Given the description of an element on the screen output the (x, y) to click on. 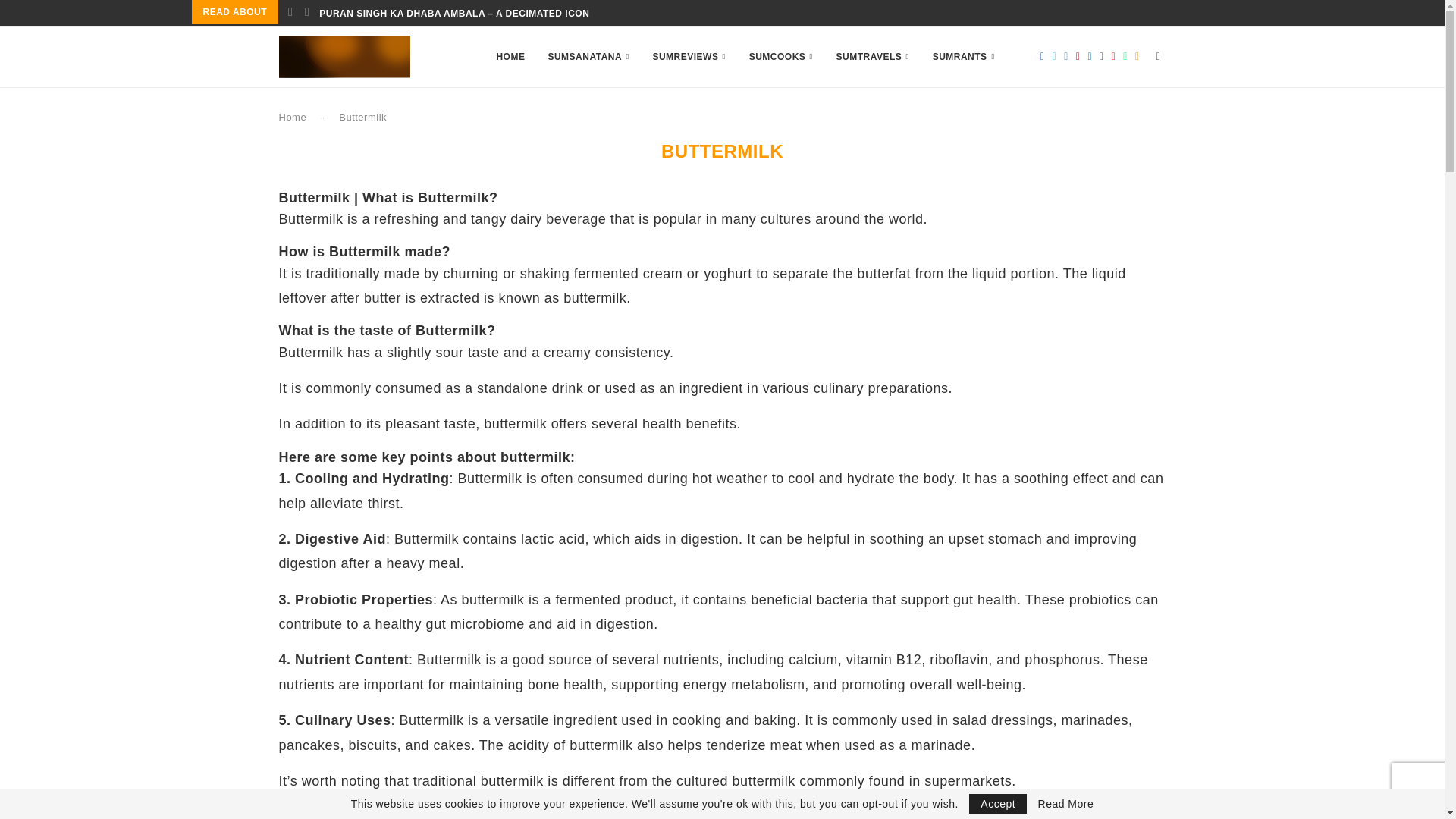
SUMREVIEWS (688, 56)
SUMCOOKS (781, 56)
SUMSANATANA (587, 56)
